Given the description of an element on the screen output the (x, y) to click on. 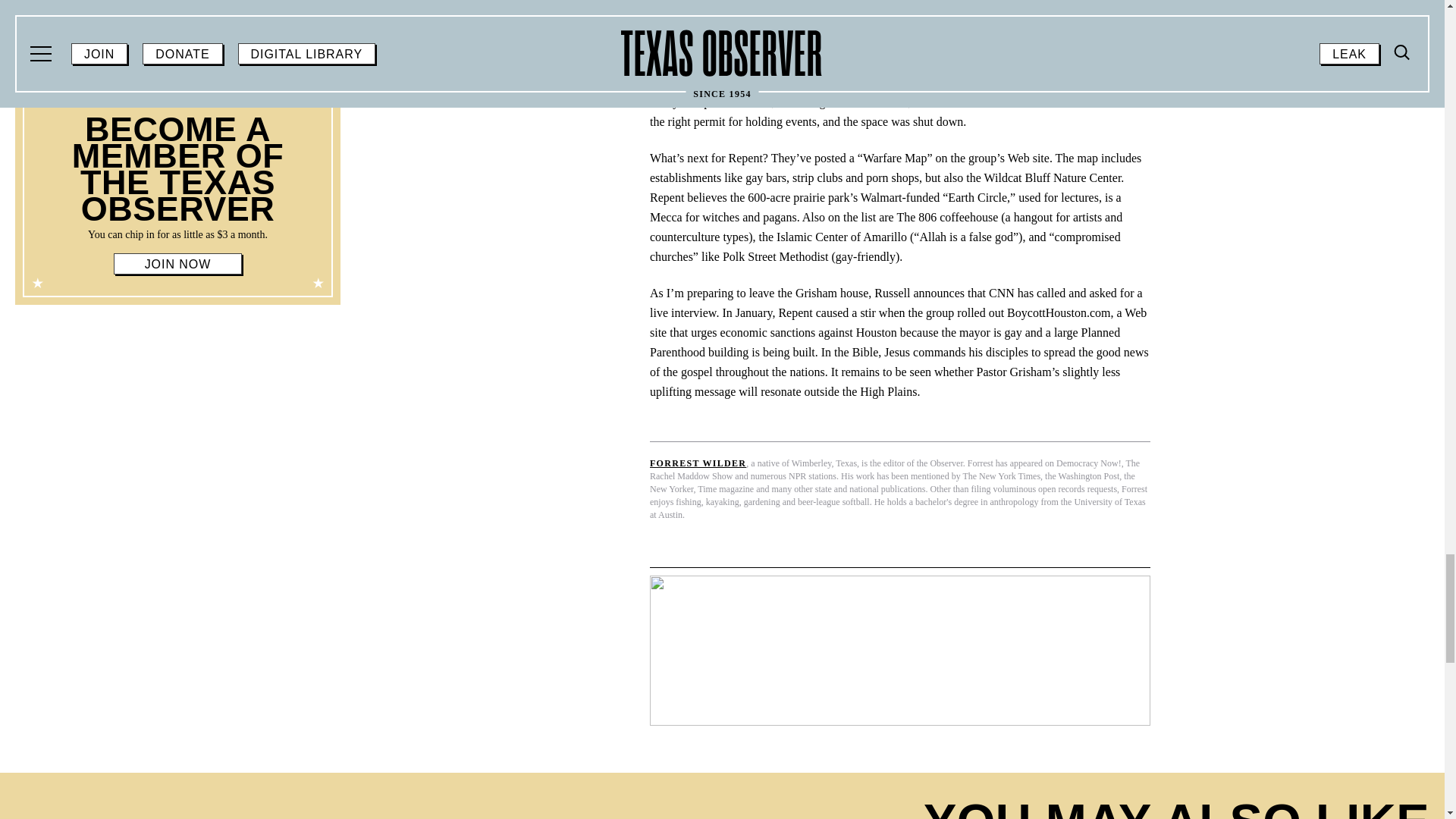
Posts by Forrest Wilder (697, 462)
